Given the description of an element on the screen output the (x, y) to click on. 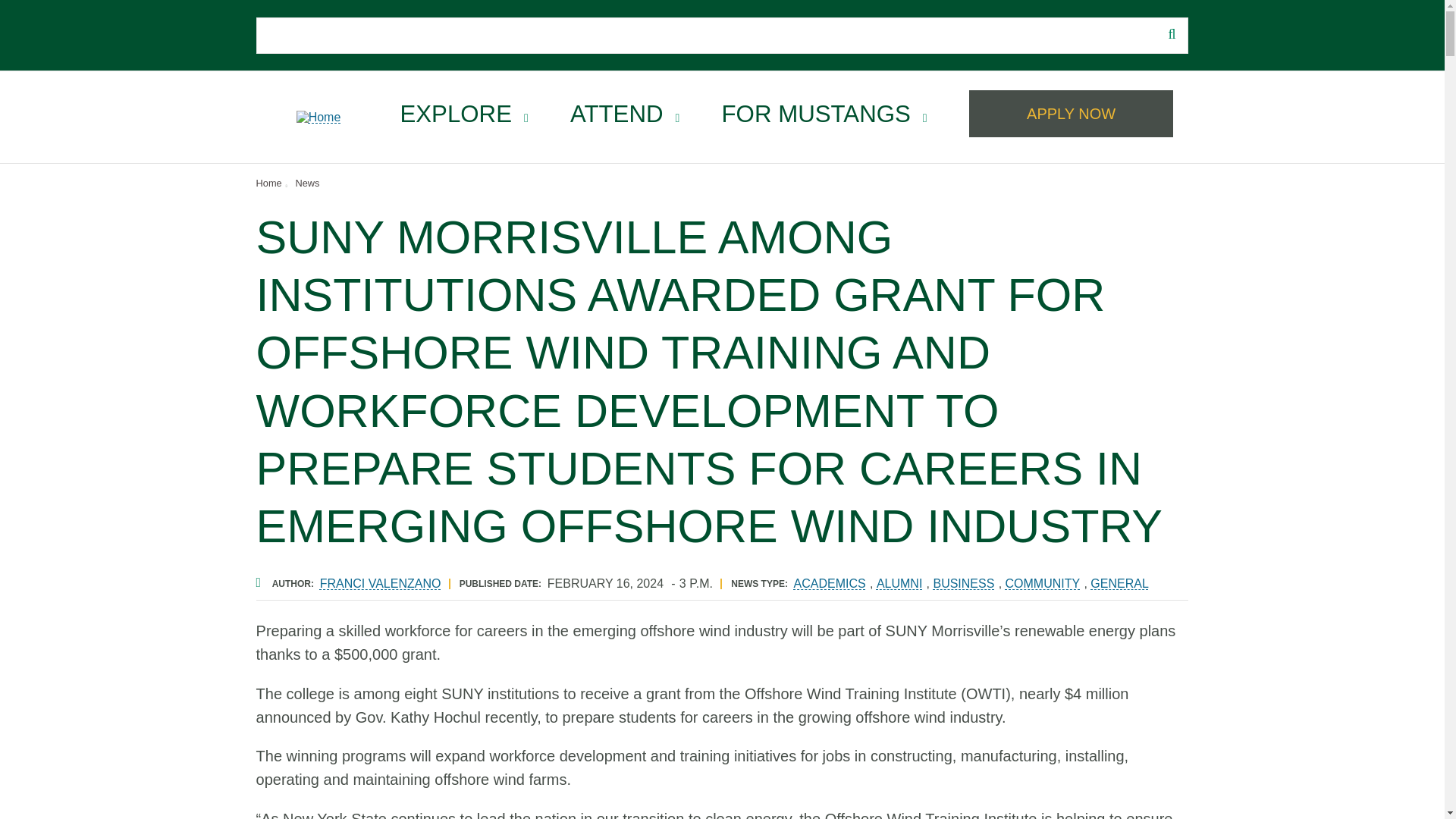
GENERAL (1119, 583)
BUSINESS (963, 583)
COMMUNITY (1043, 583)
ACADEMICS (829, 583)
FRANCI VALENZANO (380, 583)
News (307, 183)
Home (269, 183)
ALUMNI (898, 583)
APPLY NOW (1071, 113)
Search (330, 36)
